Given the description of an element on the screen output the (x, y) to click on. 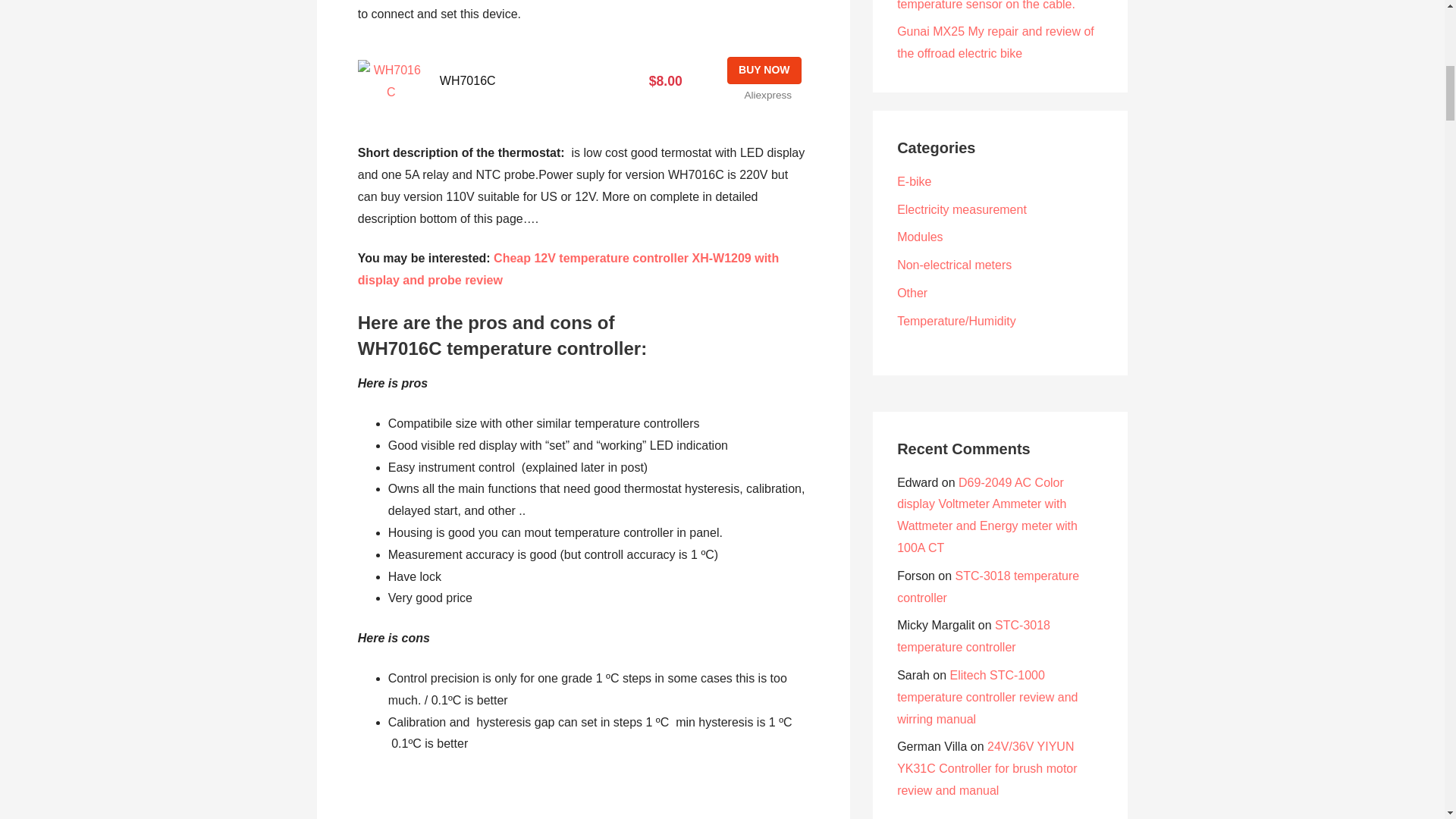
WH7016C (467, 80)
BUY NOW (763, 70)
